Given the description of an element on the screen output the (x, y) to click on. 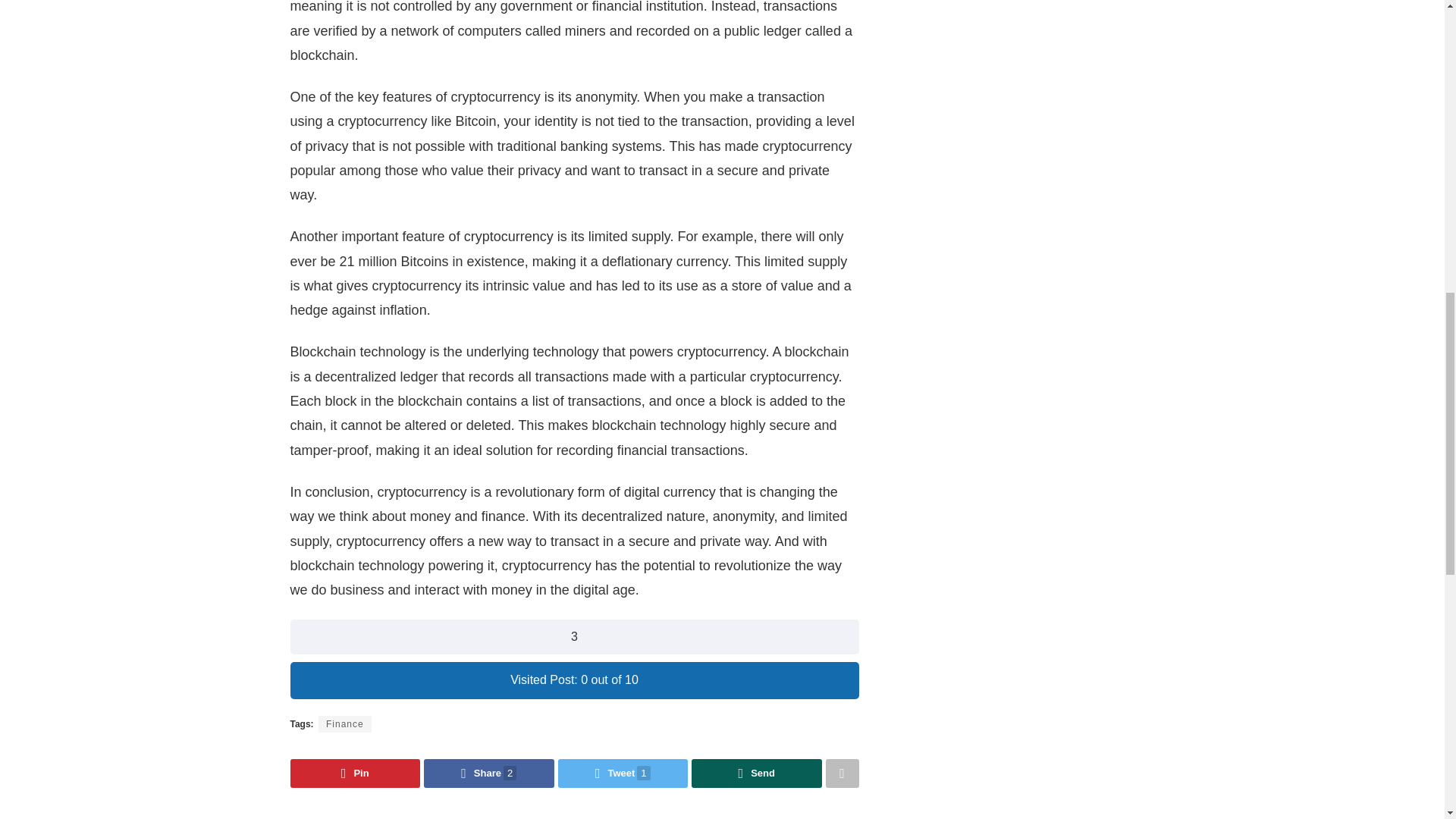
Send (756, 773)
Pin (354, 773)
Finance (344, 723)
Share2 (488, 773)
Tweet1 (622, 773)
